Given the description of an element on the screen output the (x, y) to click on. 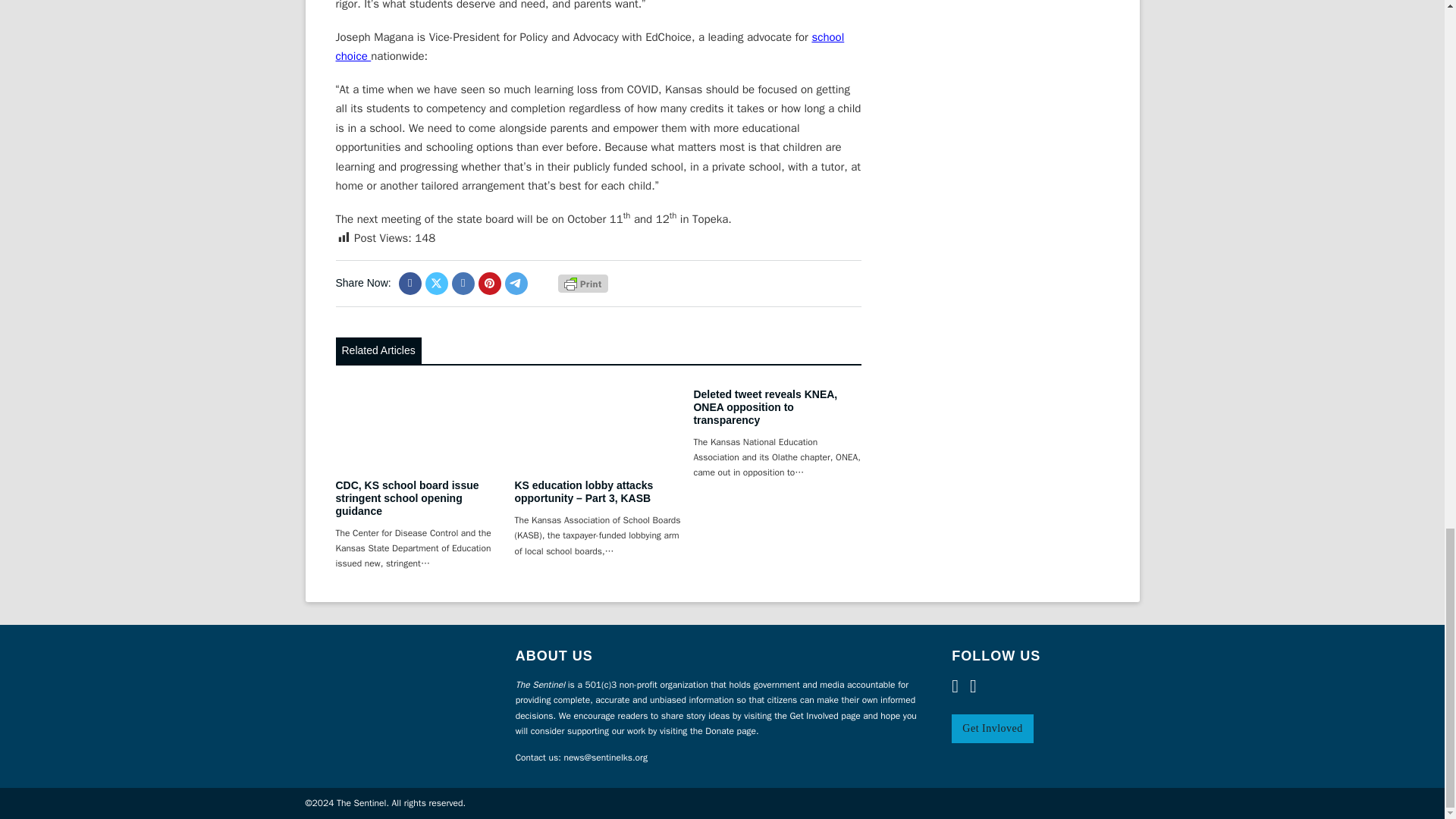
school choice (589, 46)
Deleted tweet reveals KNEA, ONEA opposition to transparency (765, 406)
CDC, KS school board issue stringent school opening guidance (406, 497)
